Given the description of an element on the screen output the (x, y) to click on. 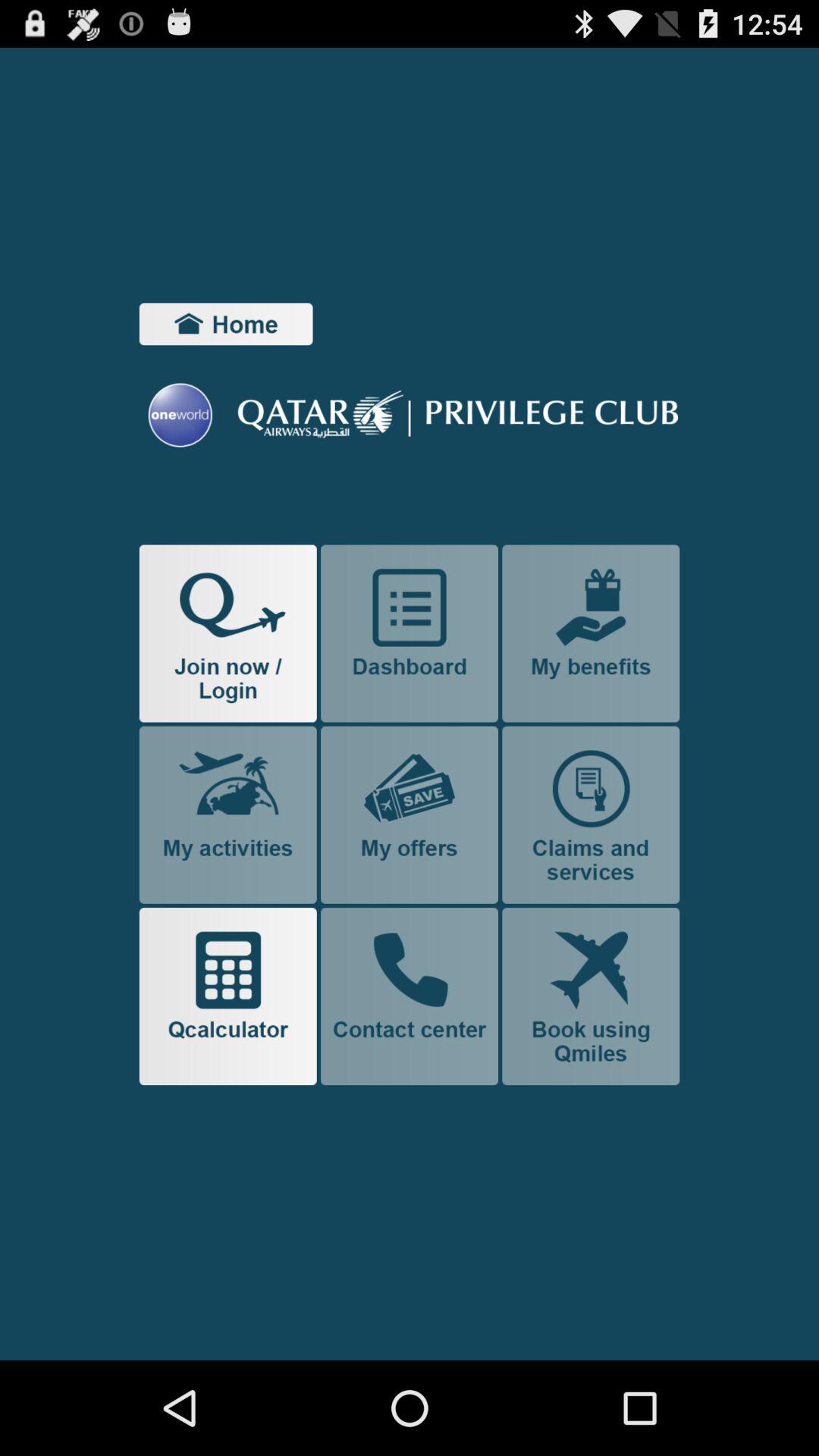
choose item at the top left corner (225, 324)
